Given the description of an element on the screen output the (x, y) to click on. 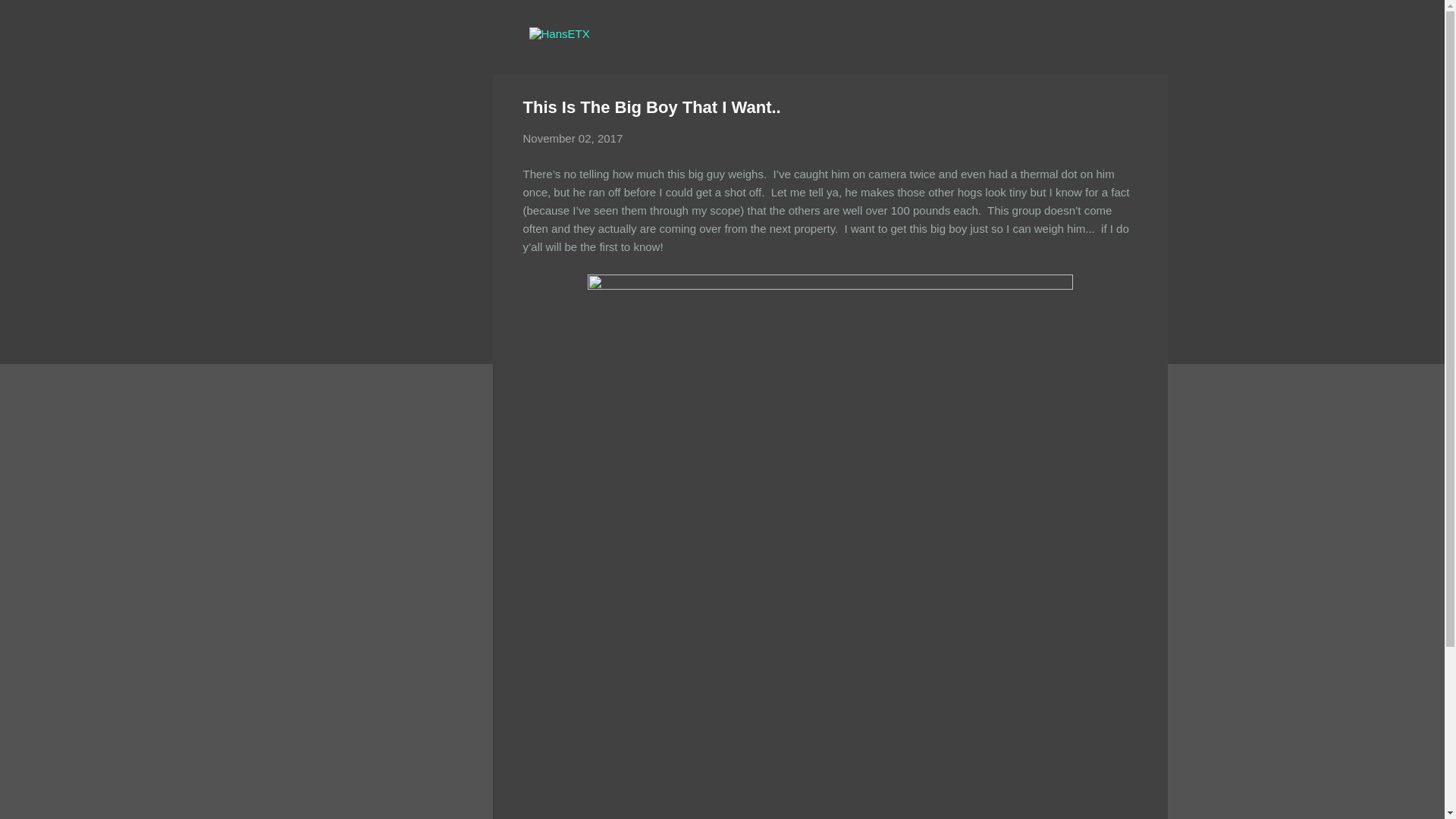
November 02, 2017 (572, 137)
Search (29, 18)
permanent link (572, 137)
